Given the description of an element on the screen output the (x, y) to click on. 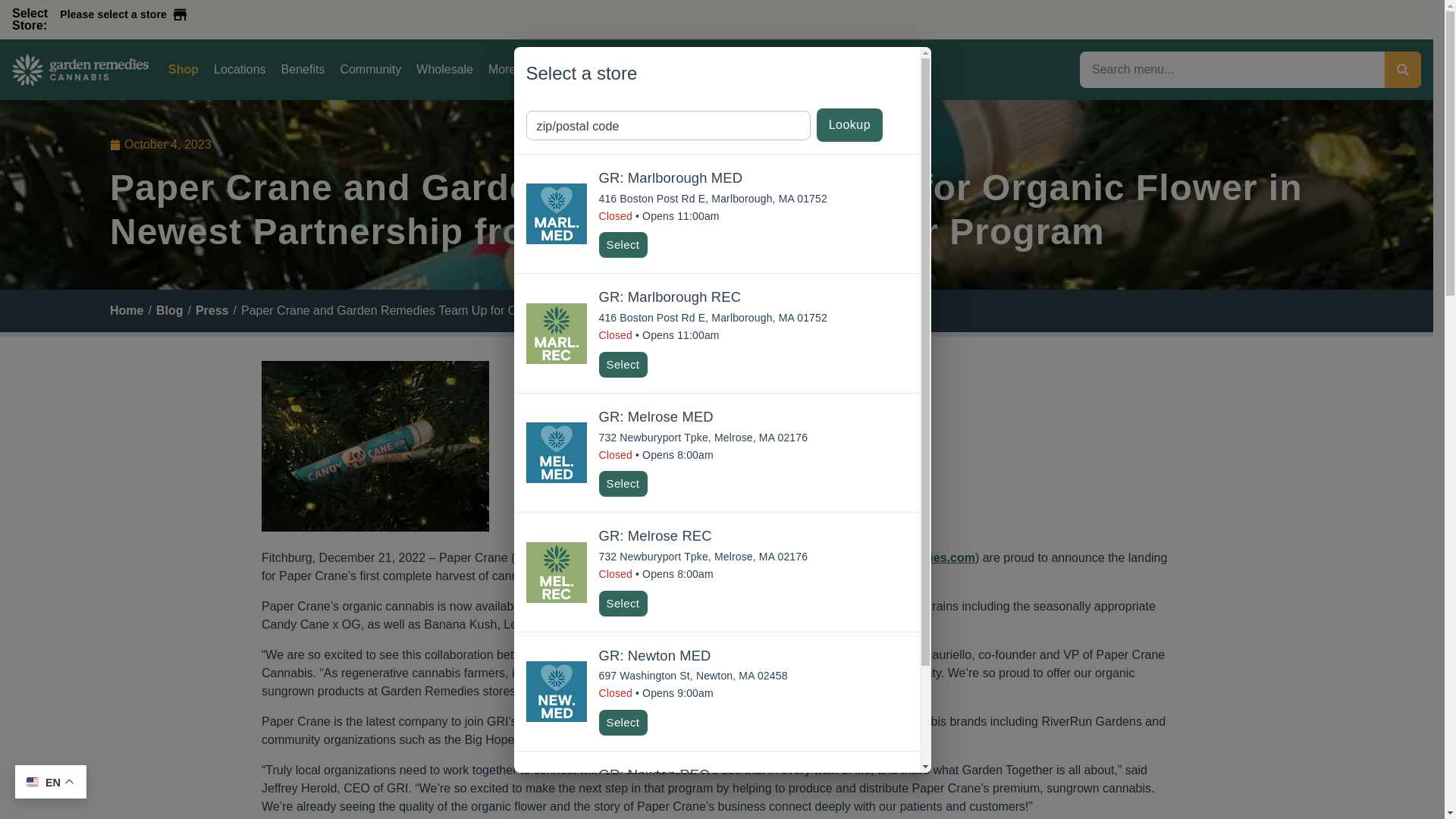
Press (211, 311)
Benefits (303, 69)
Blog (169, 311)
Home (126, 311)
Locations (239, 69)
Shop (183, 69)
Wholesale (444, 69)
Community (370, 69)
